Given the description of an element on the screen output the (x, y) to click on. 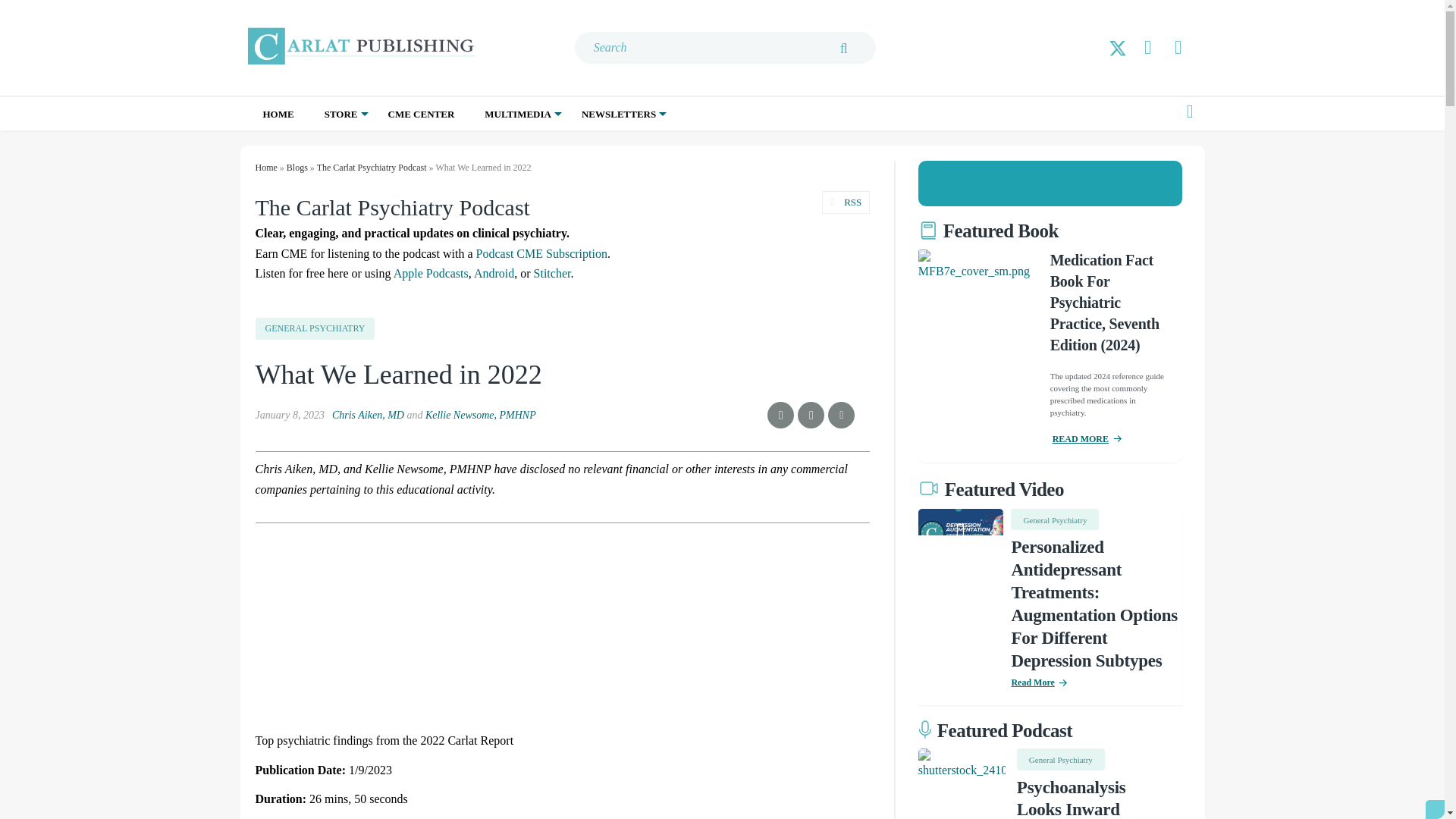
Podcast CME Subscription (541, 253)
HOME (277, 113)
CME CENTER (421, 113)
WEBINARS (552, 145)
Home (265, 167)
ABPN SA COURSES (410, 145)
EBOOKS (407, 145)
MEDICATION GUIDE VIDEOS (569, 154)
GERIATRIC PSYCHIATRY (666, 154)
Blogs (296, 167)
